Given the description of an element on the screen output the (x, y) to click on. 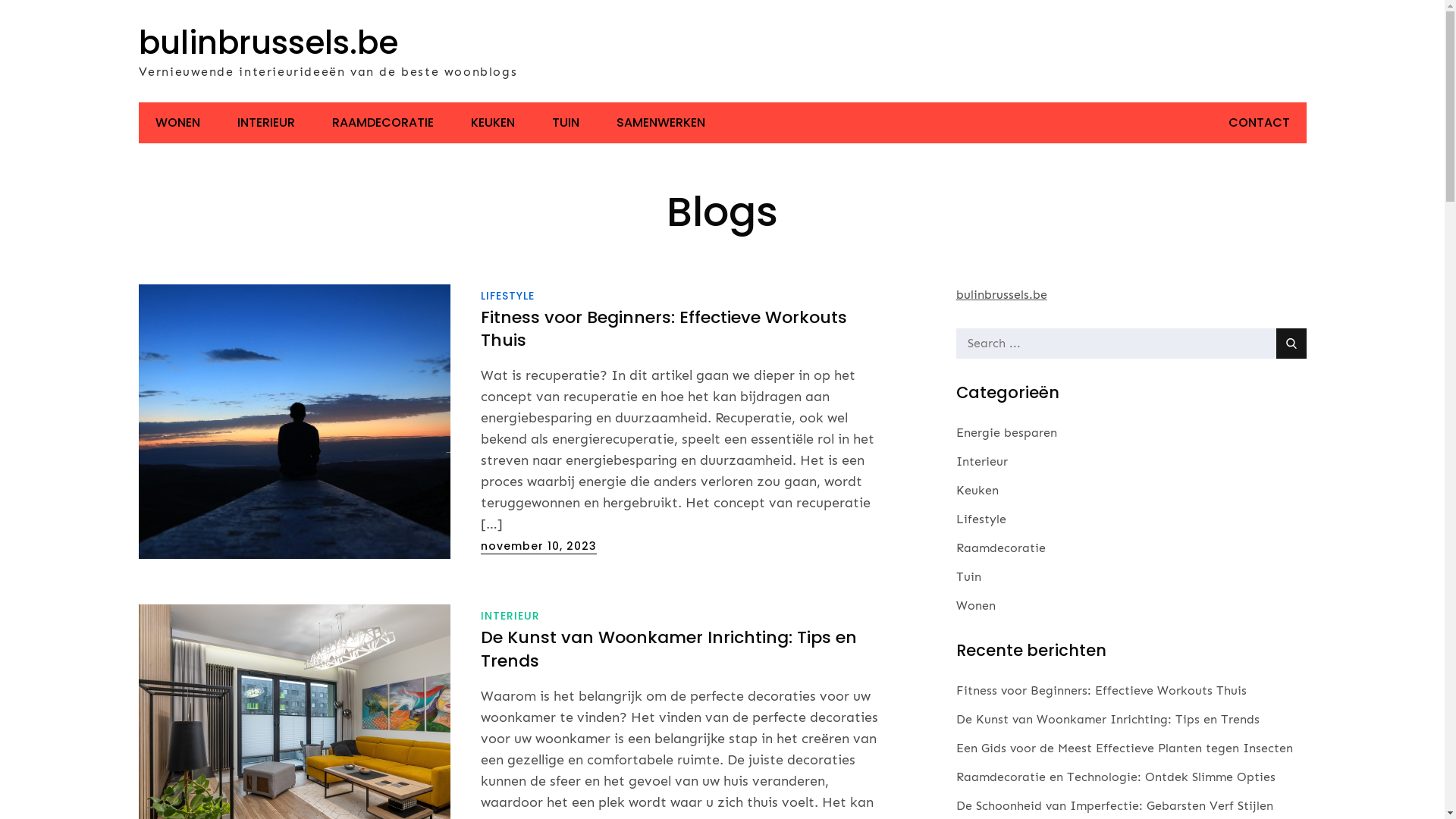
Raamdecoratie Element type: text (999, 547)
Fitness voor Beginners: Effectieve Workouts Thuis Element type: text (1100, 690)
De Kunst van Woonkamer Inrichting: Tips en Trends Element type: text (1106, 719)
SAMENWERKEN Element type: text (660, 122)
Fitness voor Beginners: Effectieve Workouts Thuis Element type: text (663, 328)
Wonen Element type: text (974, 605)
RAAMDECORATIE Element type: text (382, 122)
De Schoonheid van Imperfectie: Gebarsten Verf Stijlen Element type: text (1113, 805)
CONTACT Element type: text (1258, 122)
LIFESTYLE Element type: text (507, 295)
INTERIEUR Element type: text (264, 122)
Tuin Element type: text (967, 576)
Search for: Element type: hover (1130, 343)
WONEN Element type: text (177, 122)
KEUKEN Element type: text (491, 122)
Lifestyle Element type: text (980, 519)
bulinbrussels.be Element type: text (1000, 294)
november 10, 2023 Element type: text (538, 546)
Search Element type: text (1290, 343)
INTERIEUR Element type: text (509, 615)
Raamdecoratie en Technologie: Ontdek Slimme Opties Element type: text (1114, 776)
Een Gids voor de Meest Effectieve Planten tegen Insecten Element type: text (1123, 747)
bulinbrussels.be Element type: text (267, 42)
TUIN Element type: text (565, 122)
Interieur Element type: text (981, 461)
Keuken Element type: text (976, 490)
De Kunst van Woonkamer Inrichting: Tips en Trends Element type: text (668, 648)
Energie besparen Element type: text (1005, 432)
